Given the description of an element on the screen output the (x, y) to click on. 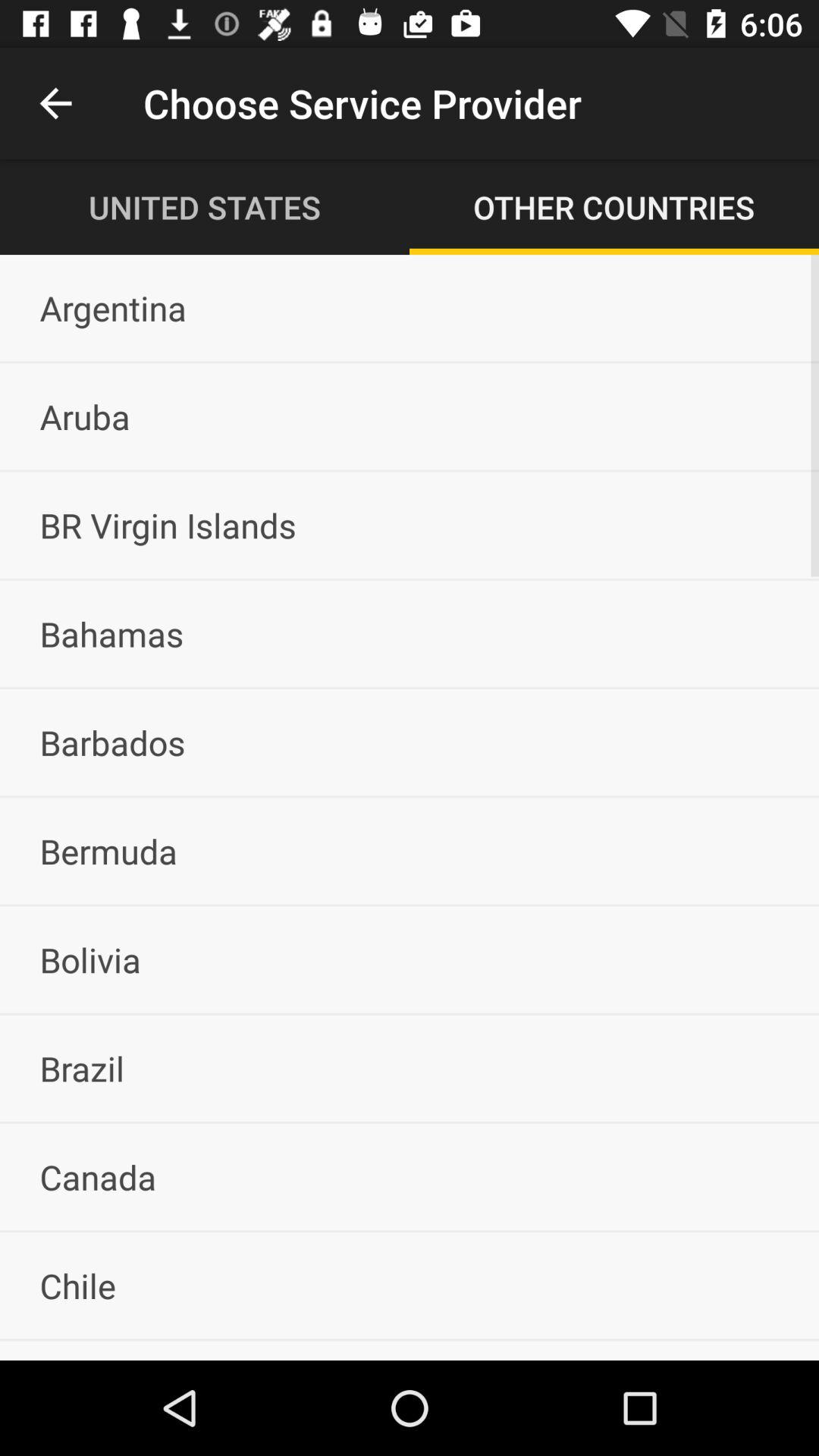
turn off the canada item (409, 1176)
